Given the description of an element on the screen output the (x, y) to click on. 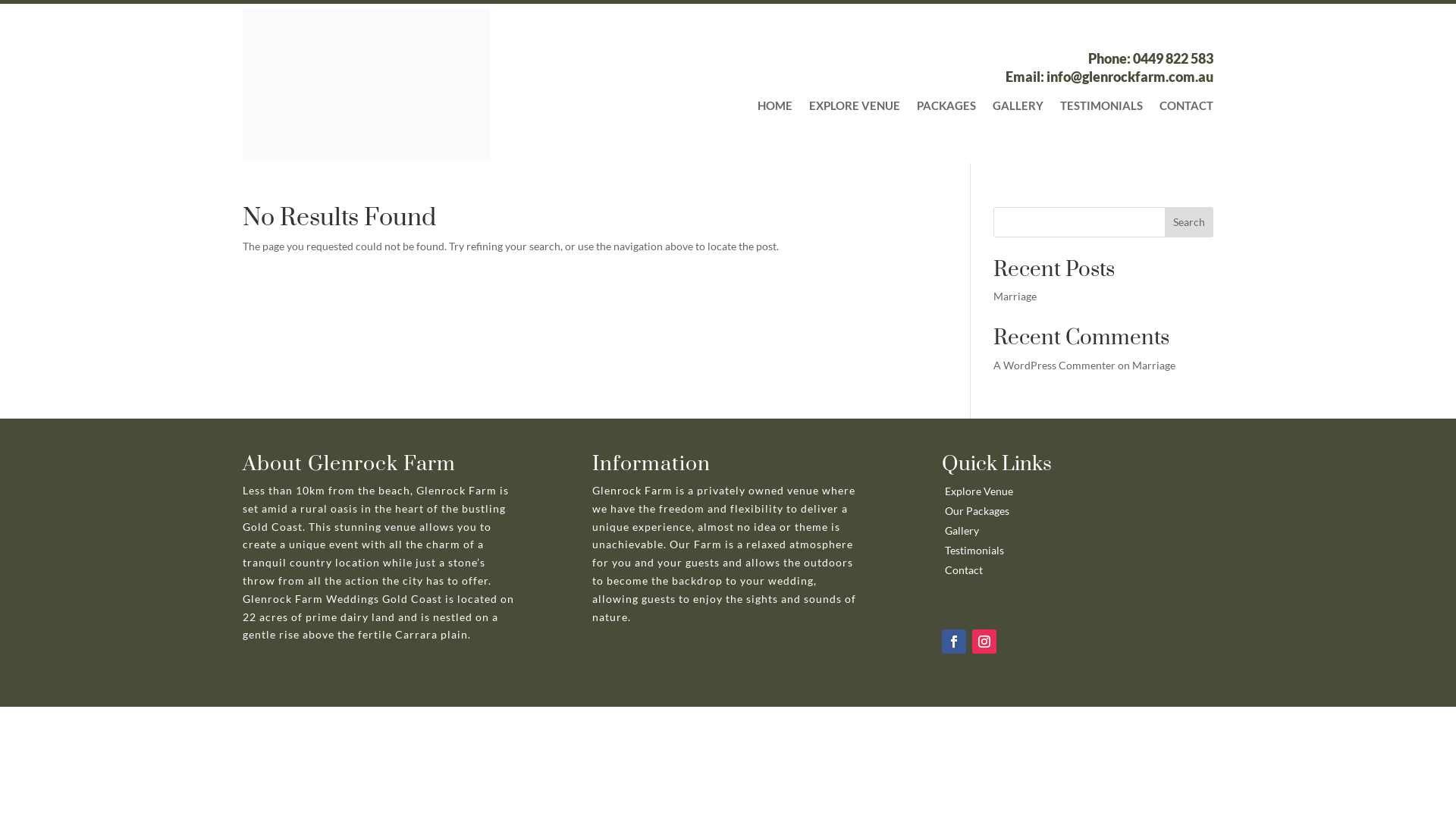
HOME Element type: text (774, 108)
EXPLORE VENUE Element type: text (854, 108)
Gallery Element type: text (961, 530)
Explore Venue Element type: text (978, 490)
CONTACT Element type: text (1186, 108)
GlenrockFarm_logo-01 Element type: hover (365, 83)
Follow on Facebook Element type: hover (953, 641)
Contact Element type: text (963, 569)
PACKAGES Element type: text (945, 108)
Marriage Element type: text (1014, 295)
A WordPress Commenter Element type: text (1054, 364)
Our Packages Element type: text (976, 510)
GALLERY Element type: text (1017, 108)
TESTIMONIALS Element type: text (1101, 108)
Marriage Element type: text (1153, 364)
Search Element type: text (1188, 222)
Follow on Instagram Element type: hover (984, 641)
Testimonials Element type: text (974, 549)
